Given the description of an element on the screen output the (x, y) to click on. 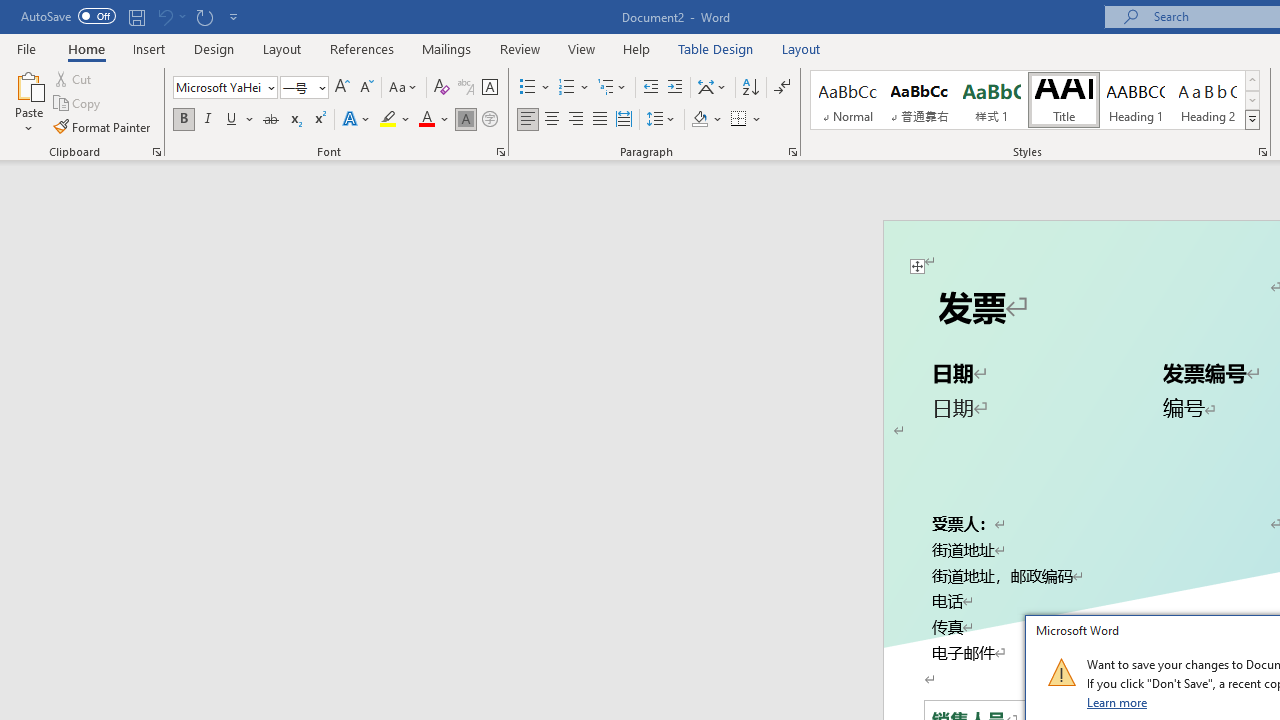
Heading 2 (1208, 100)
Title (1063, 100)
